Given the description of an element on the screen output the (x, y) to click on. 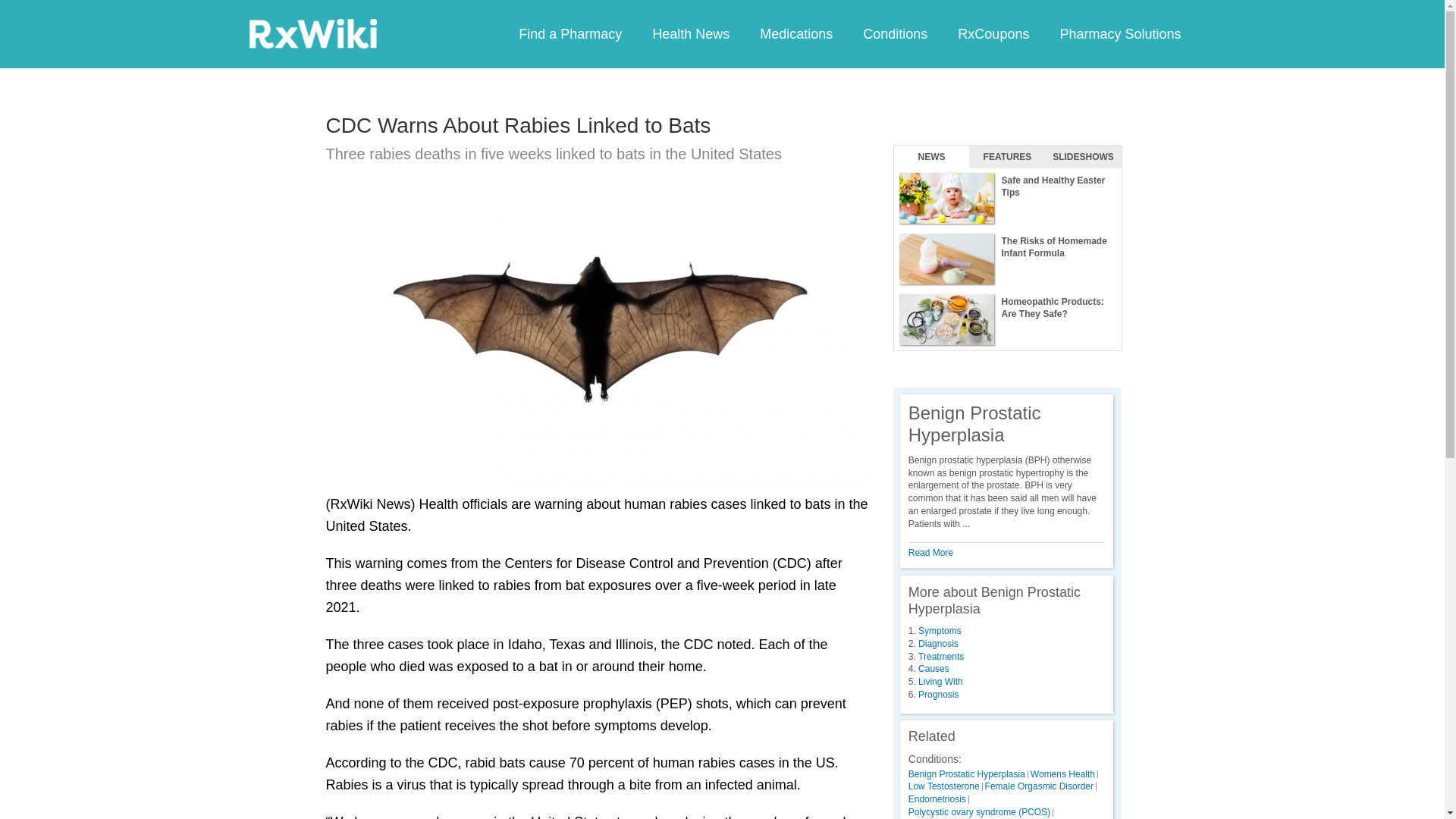
Health News (690, 33)
RxCoupons (992, 33)
Safe and Healthy Easter Tips (1007, 198)
Homeopathic Products: Are They Safe? (1007, 319)
Pharmacy Solutions (1119, 33)
Read More (930, 552)
The Risks of Homemade Infant Formula (1007, 259)
NEWS (931, 156)
Medications (795, 33)
Conditions (894, 33)
Symptoms (939, 630)
Find a Pharmacy (570, 33)
SLIDESHOWS (1083, 156)
FEATURES (1007, 156)
RxWiki (312, 32)
